Given the description of an element on the screen output the (x, y) to click on. 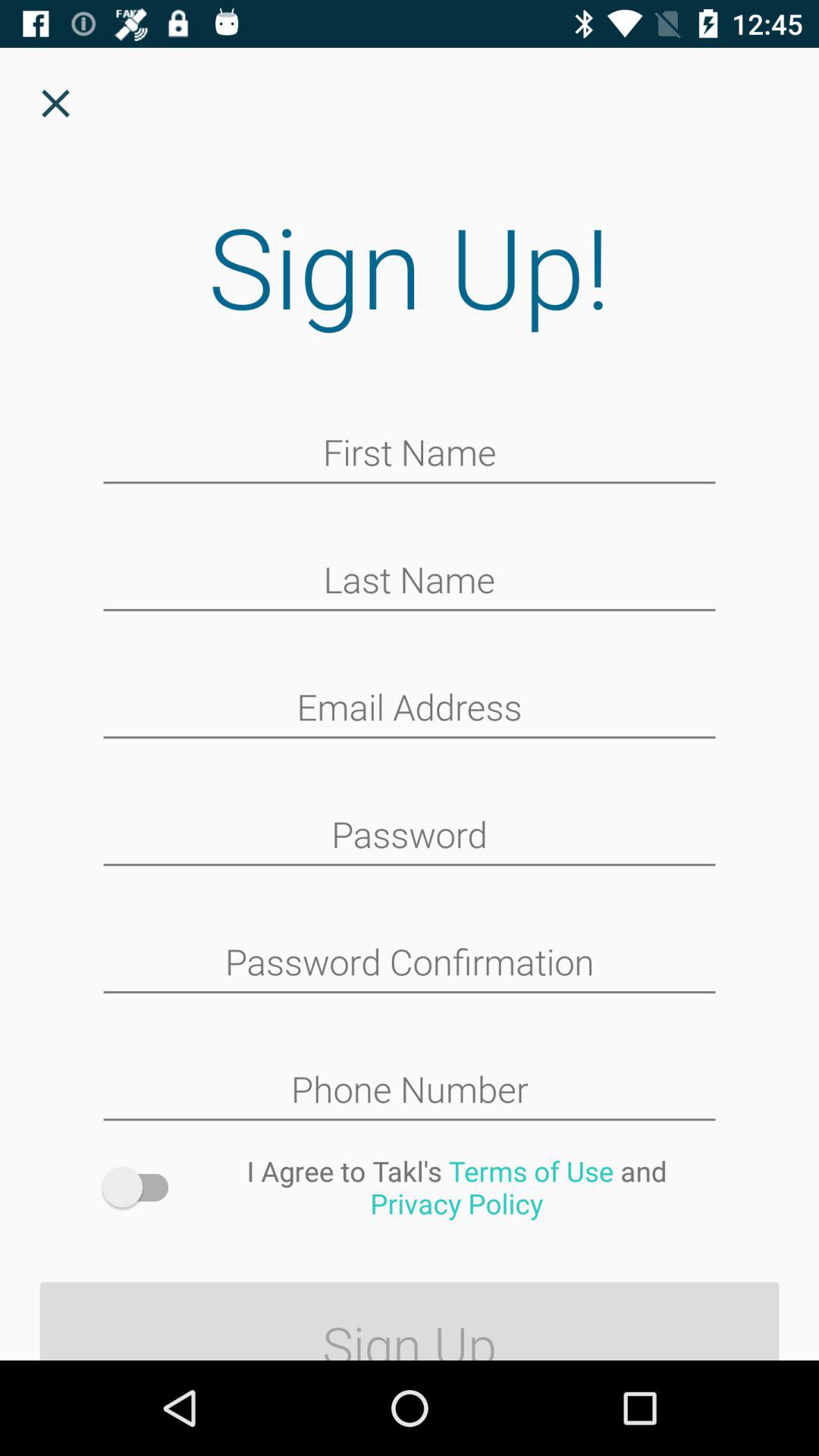
flip to i agree to item (456, 1187)
